Given the description of an element on the screen output the (x, y) to click on. 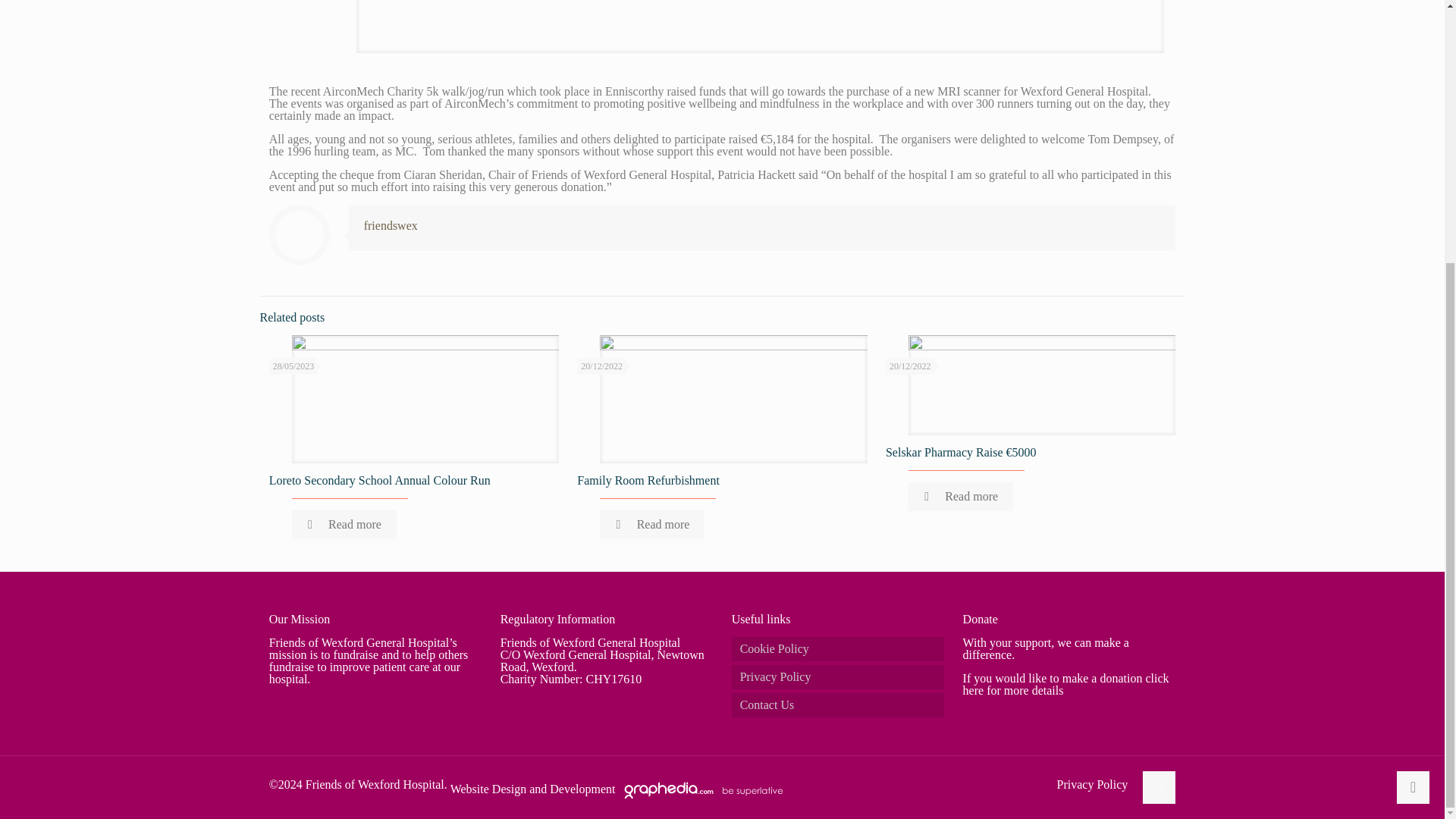
friendswex (390, 225)
Read more (344, 524)
Family Room Refurbishment (647, 480)
Loreto Secondary School Annual Colour Run (379, 480)
